Given the description of an element on the screen output the (x, y) to click on. 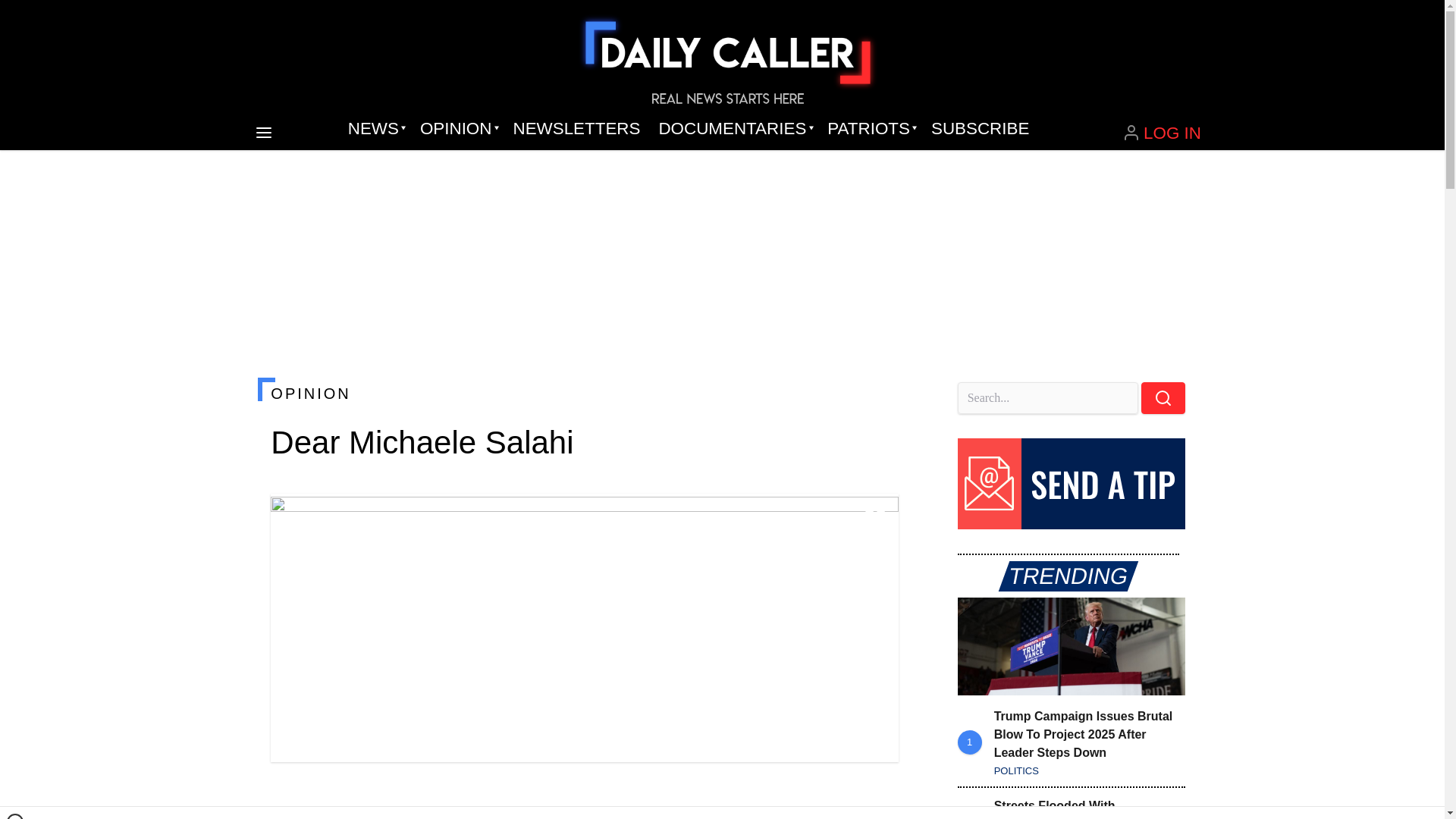
Toggle fullscreen (874, 517)
NEWS (374, 128)
Close window (14, 816)
SUBSCRIBE (979, 128)
NEWSLETTERS (576, 128)
OPINION (456, 128)
DOCUMENTARIES (733, 128)
OPINION (584, 393)
PATRIOTS (869, 128)
